Given the description of an element on the screen output the (x, y) to click on. 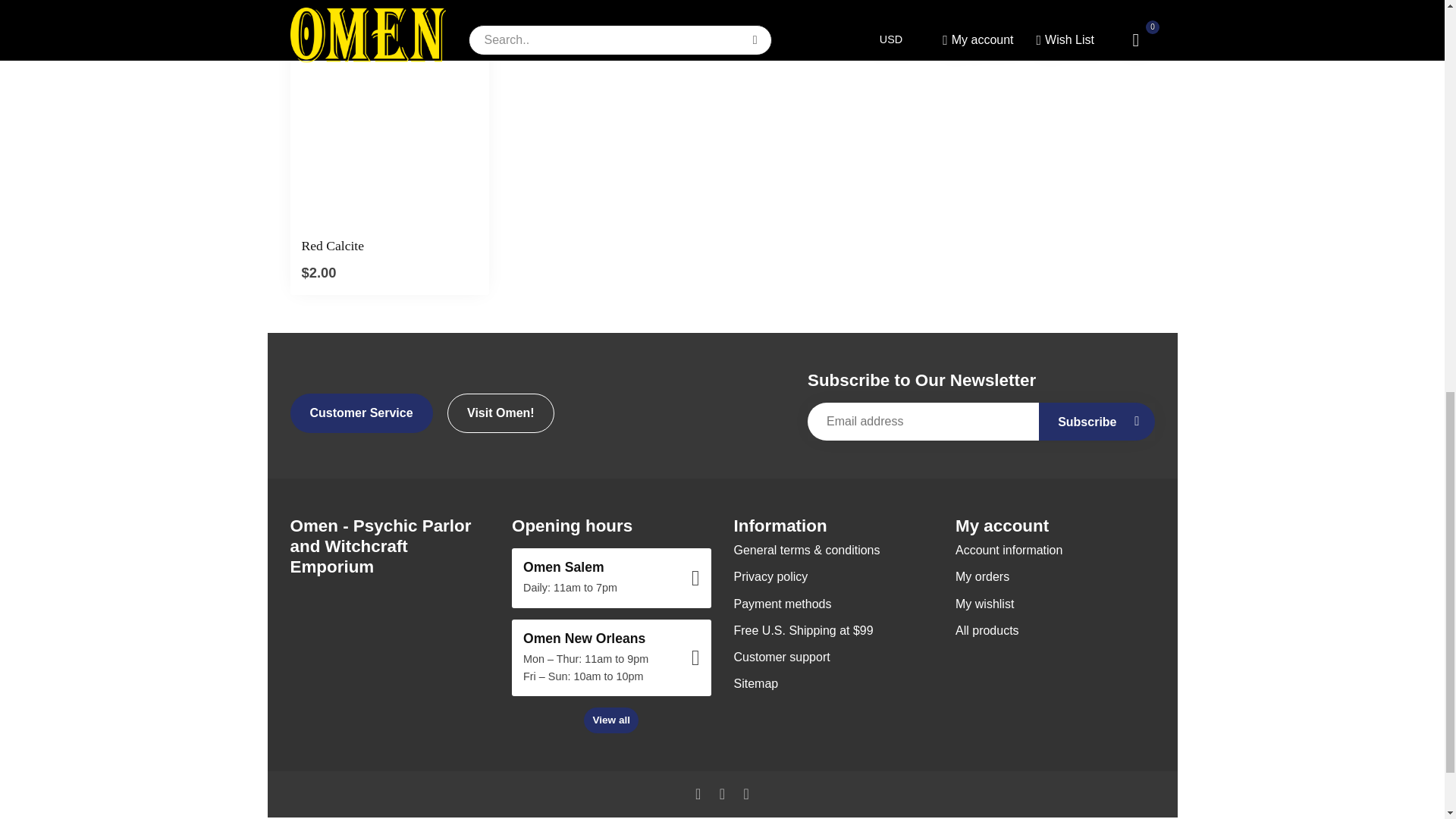
My orders (1054, 576)
Account information (1054, 550)
Privacy policy (833, 576)
All products (1054, 630)
Customer support (833, 656)
My wishlist (1054, 603)
Payment methods (833, 603)
Sitemap (833, 683)
Stone Spinner Red Calcite (389, 127)
Stone Spinner Red Calcite (390, 245)
